Given the description of an element on the screen output the (x, y) to click on. 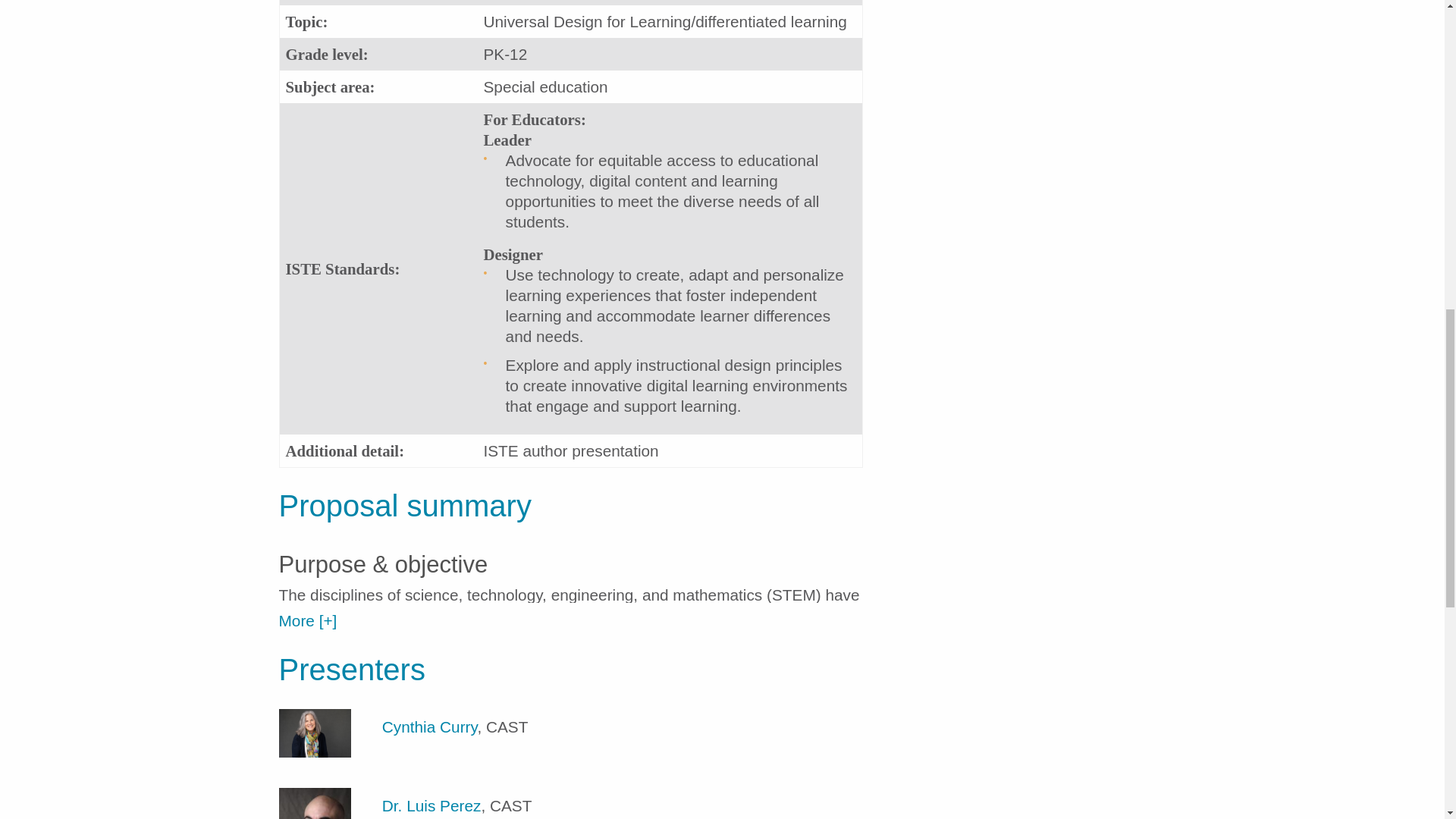
Photo (315, 733)
Photo (315, 803)
